Given the description of an element on the screen output the (x, y) to click on. 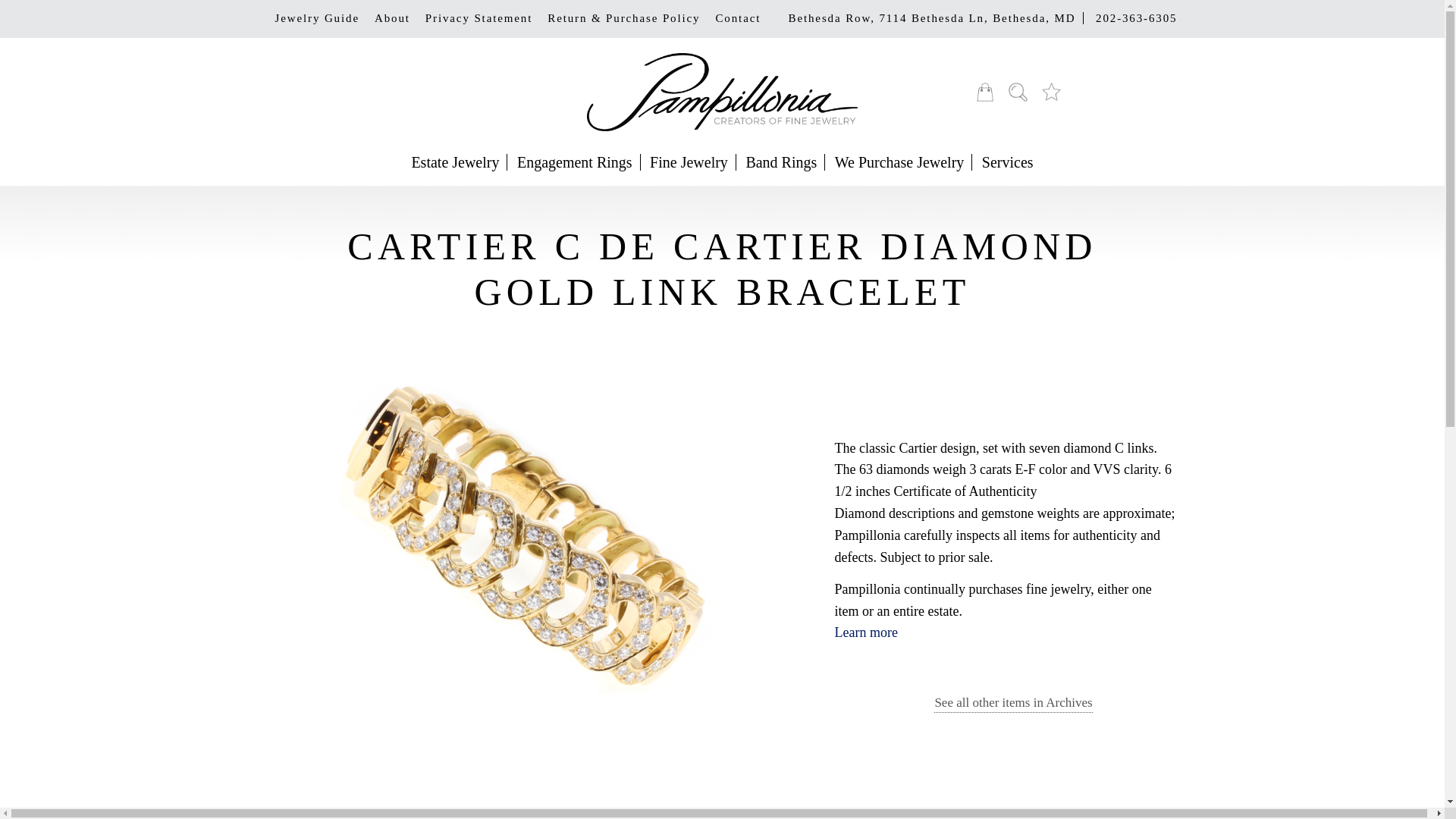
Contact (737, 18)
Search (1018, 91)
Jewelry Guide (316, 18)
Bethesda Row, 7114 Bethesda Ln, Bethesda, MD (932, 18)
Shopping Cart (984, 91)
Engagement Rings (574, 161)
Favorite (1051, 91)
Band Rings (781, 161)
Fine Jewelry (688, 161)
See all other items in Archives (1013, 703)
